Given the description of an element on the screen output the (x, y) to click on. 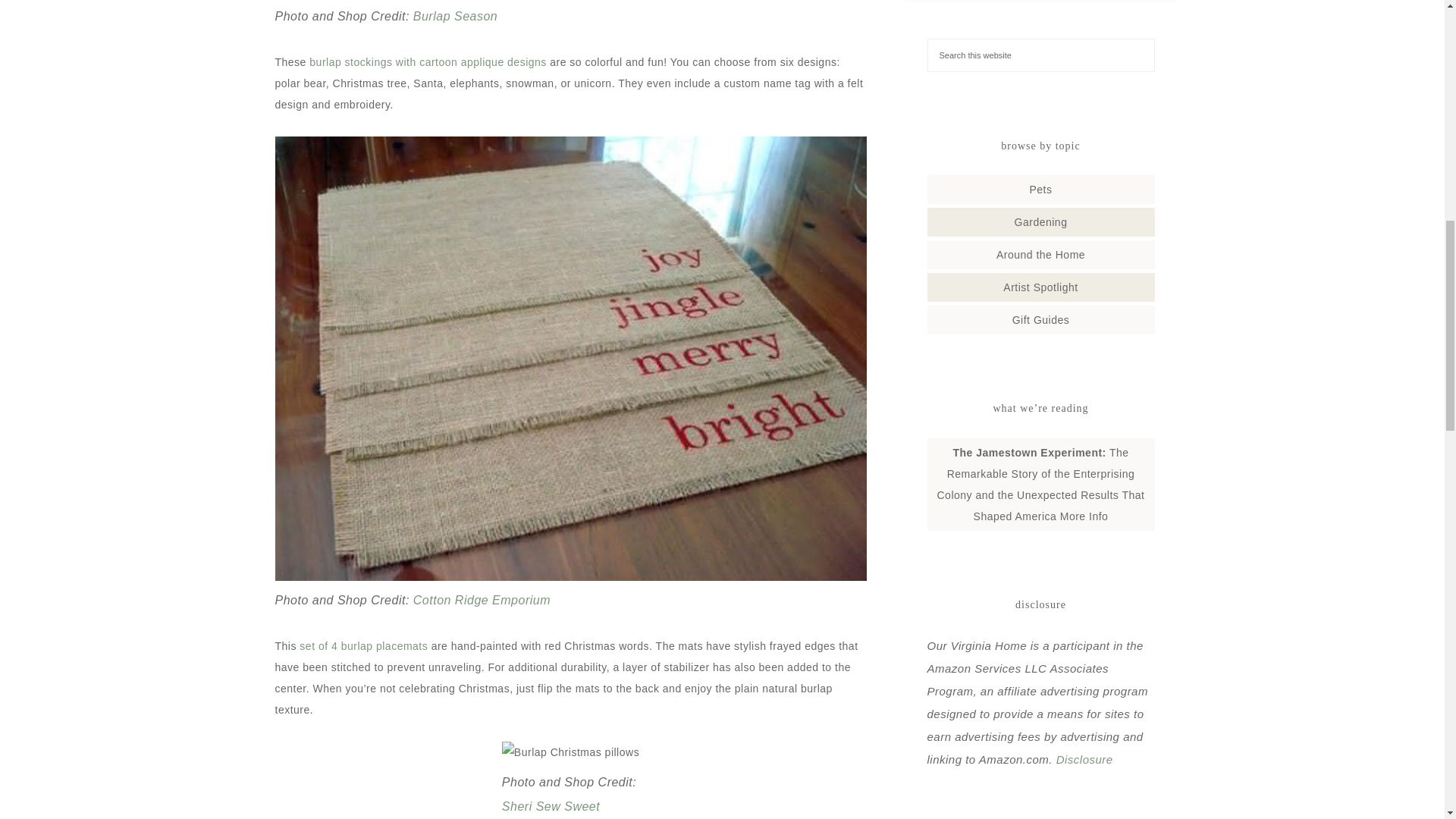
burlap stockings with cartoon applique designs (427, 61)
Burlap Season (455, 15)
Cotton Ridge Emporium (481, 599)
set of 4 burlap placemats (363, 645)
Sheri Sew Sweet (550, 806)
